Given the description of an element on the screen output the (x, y) to click on. 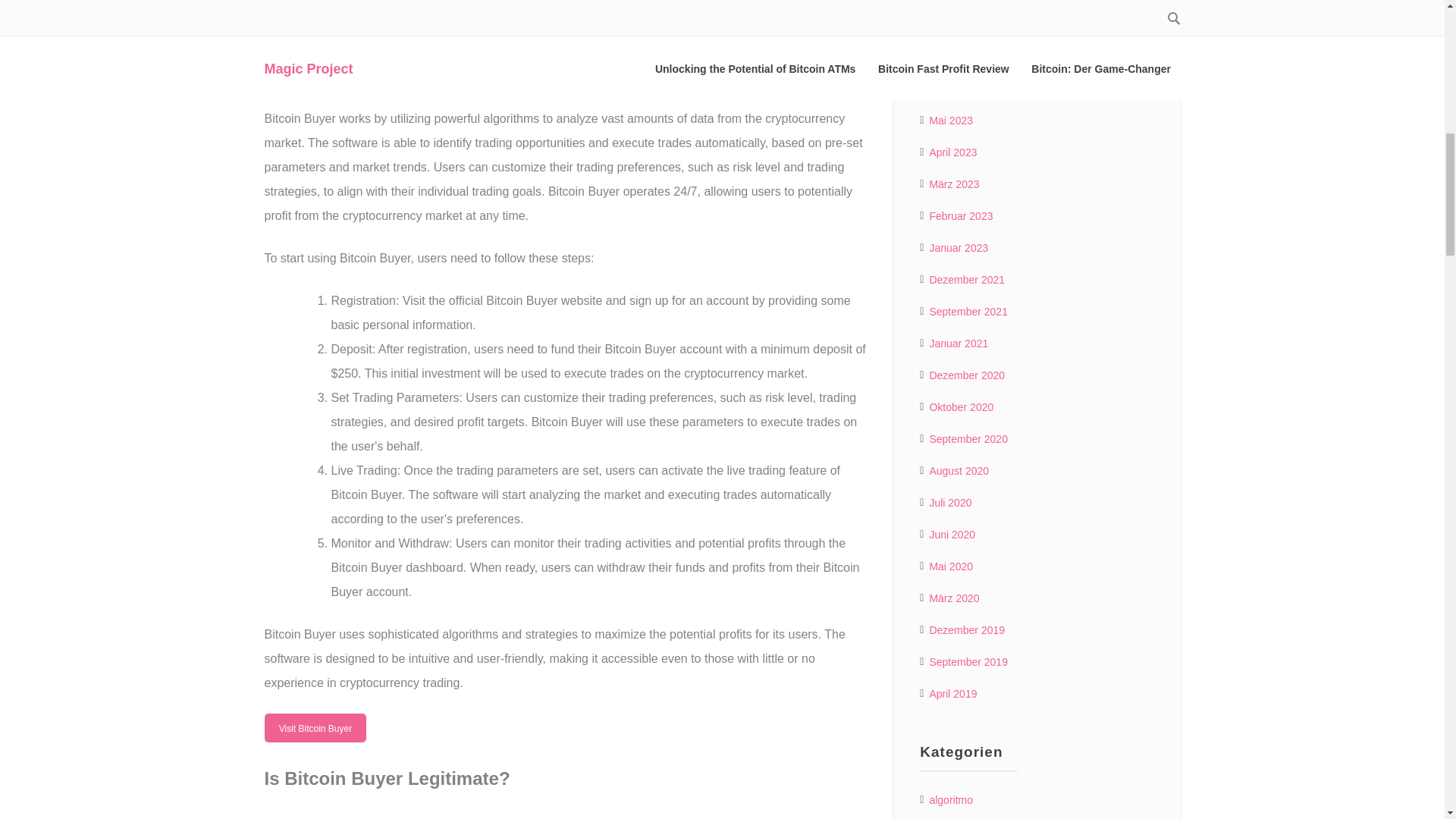
August 2023 (958, 25)
April 2023 (952, 151)
Mai 2023 (950, 120)
Visit Bitcoin Buyer (314, 727)
Februar 2023 (960, 215)
Visit Bitcoin Buyer (314, 21)
Visit Bitcoin Buyer (314, 21)
September 2023 (967, 2)
Juni 2023 (951, 88)
Visit Bitcoin Buyer (314, 727)
Juli 2023 (949, 56)
Januar 2023 (958, 247)
